Given the description of an element on the screen output the (x, y) to click on. 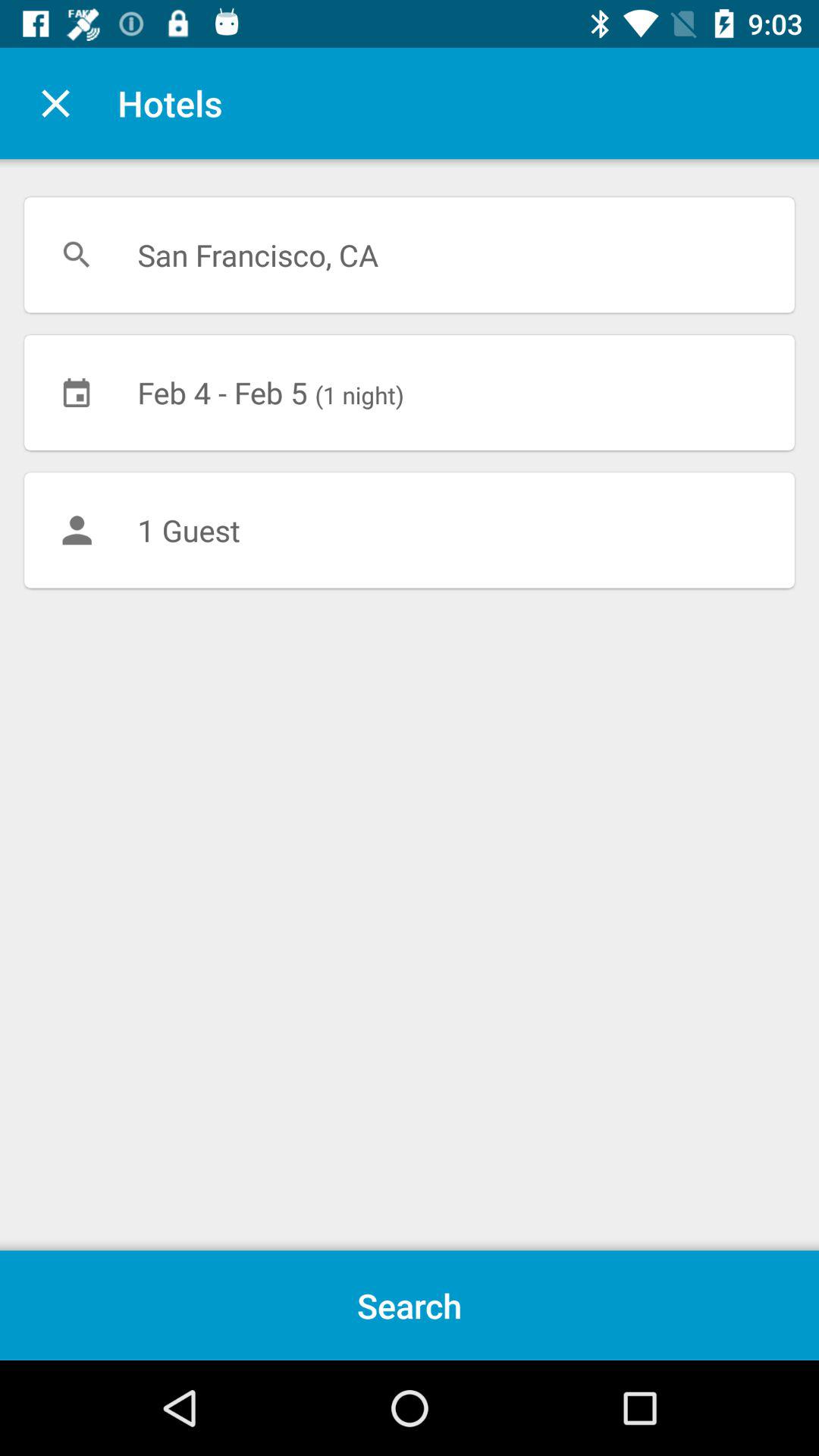
select the san francisco, ca icon (409, 254)
